Given the description of an element on the screen output the (x, y) to click on. 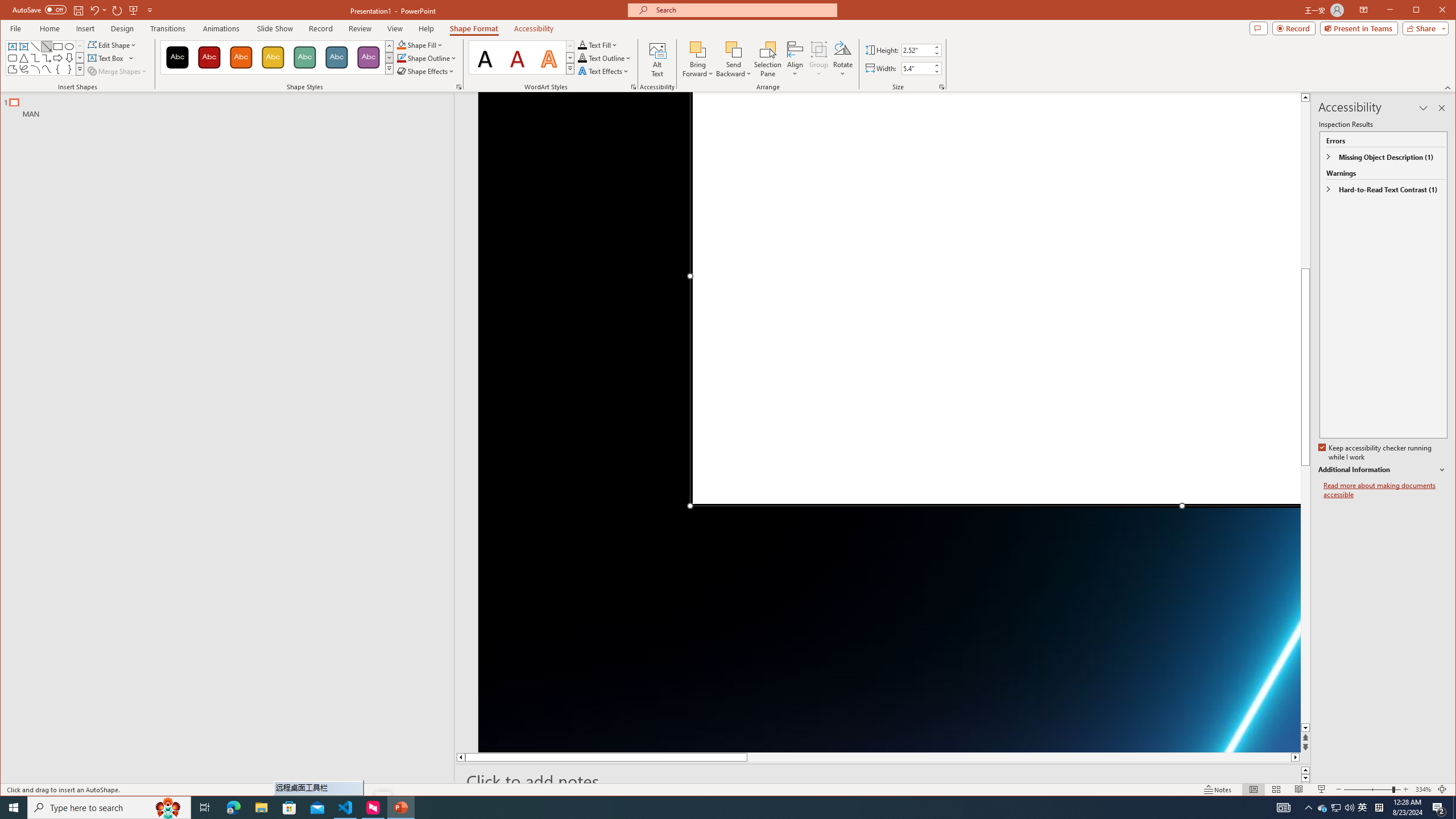
Shape Format (1362, 807)
Right Brace (473, 28)
Colored Fill - Green, Accent 4 (69, 69)
Type here to search (304, 57)
Format Text Effects... (108, 807)
Align (632, 86)
Visual Studio Code - 1 running window (794, 59)
